Given the description of an element on the screen output the (x, y) to click on. 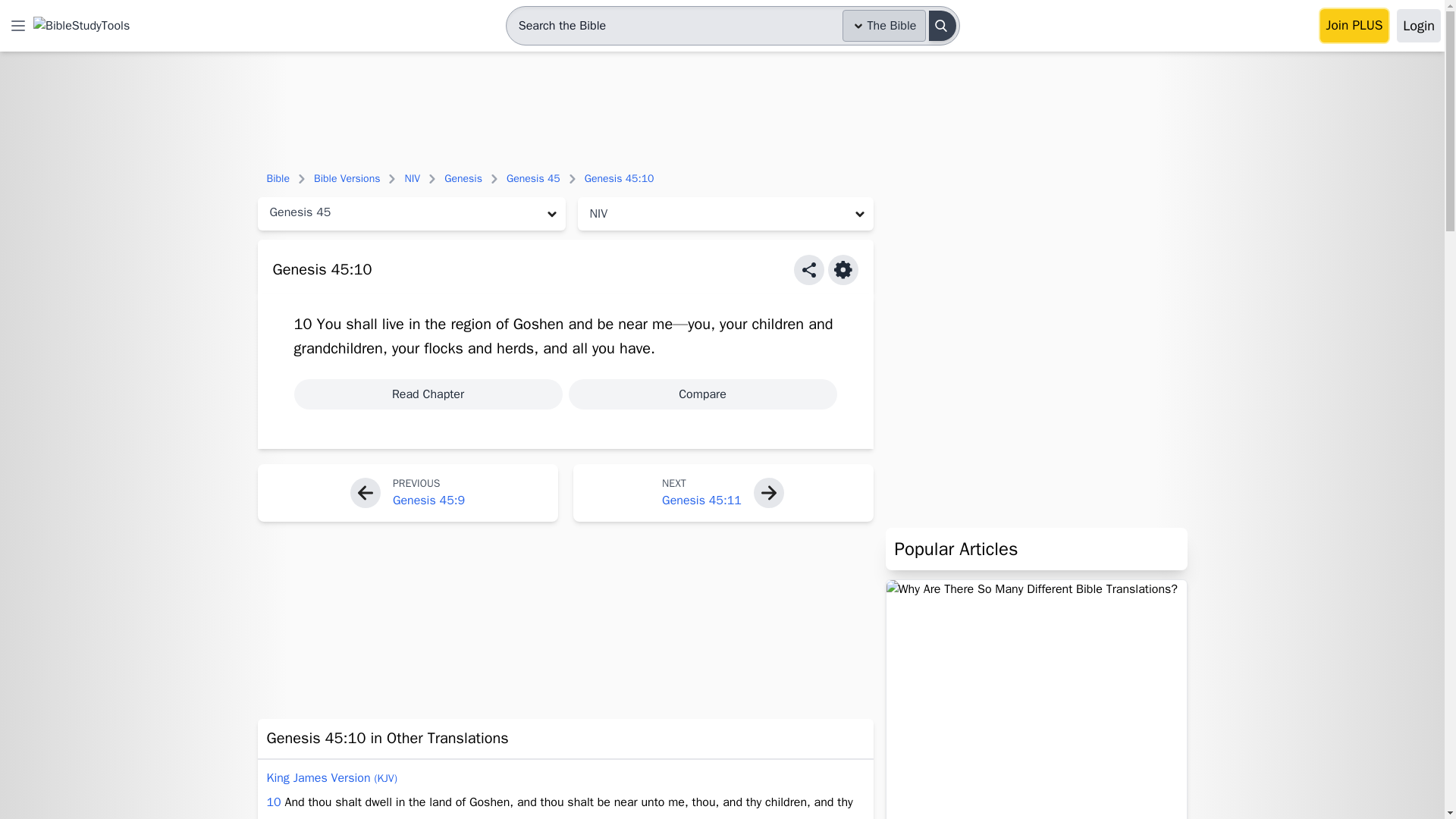
Login (1418, 25)
Scripture Settings (843, 269)
The Bible (884, 25)
Join PLUS (1354, 25)
